Given the description of an element on the screen output the (x, y) to click on. 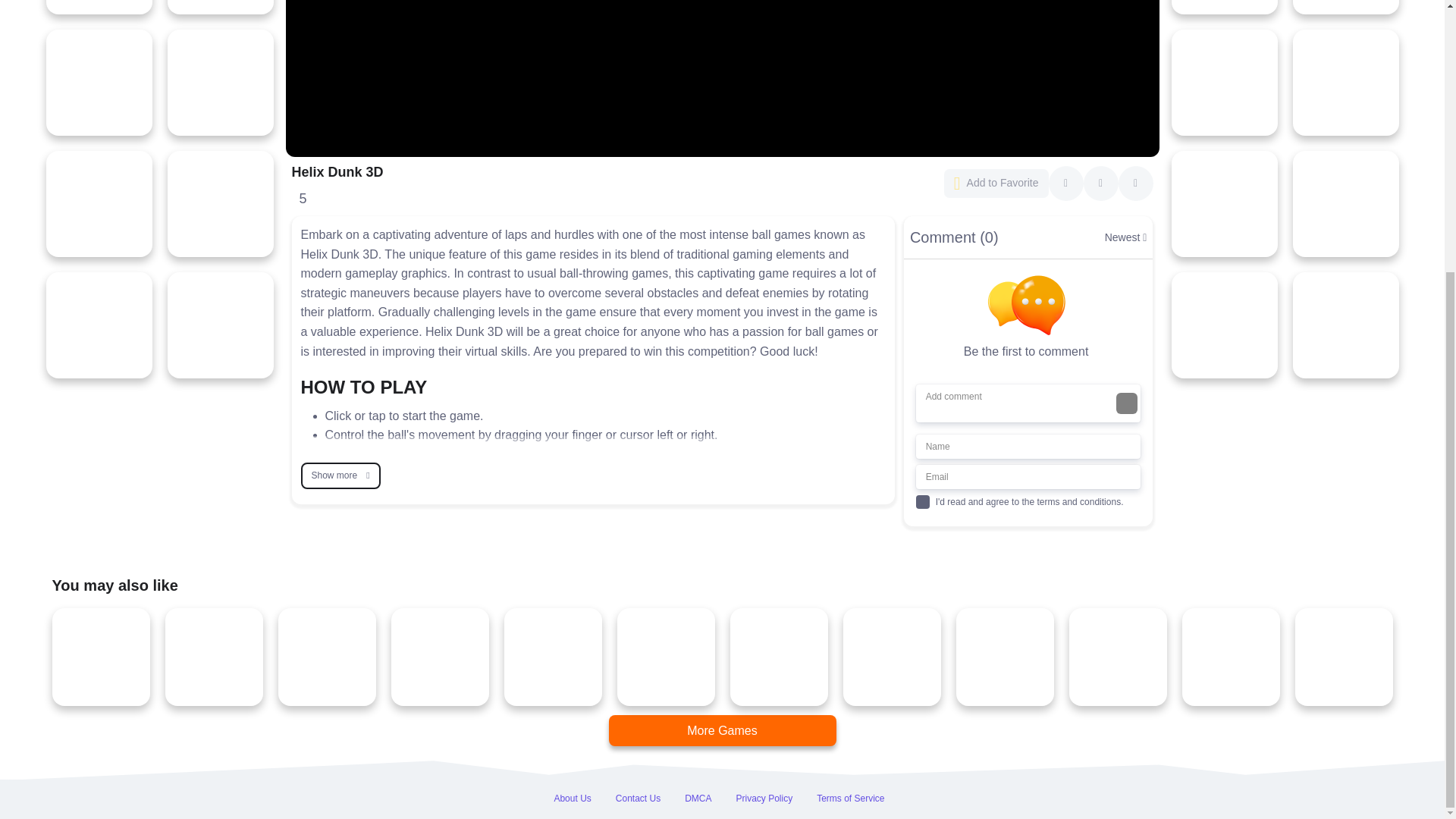
funny (458, 475)
Newest (1126, 244)
Be the first to comment (1031, 318)
BASKETBALL (340, 475)
Add to Favorite (995, 183)
Privacy Policy (763, 798)
Terms of Service (849, 798)
funny (458, 475)
jump (507, 475)
Add to Favorites (995, 183)
